Given the description of an element on the screen output the (x, y) to click on. 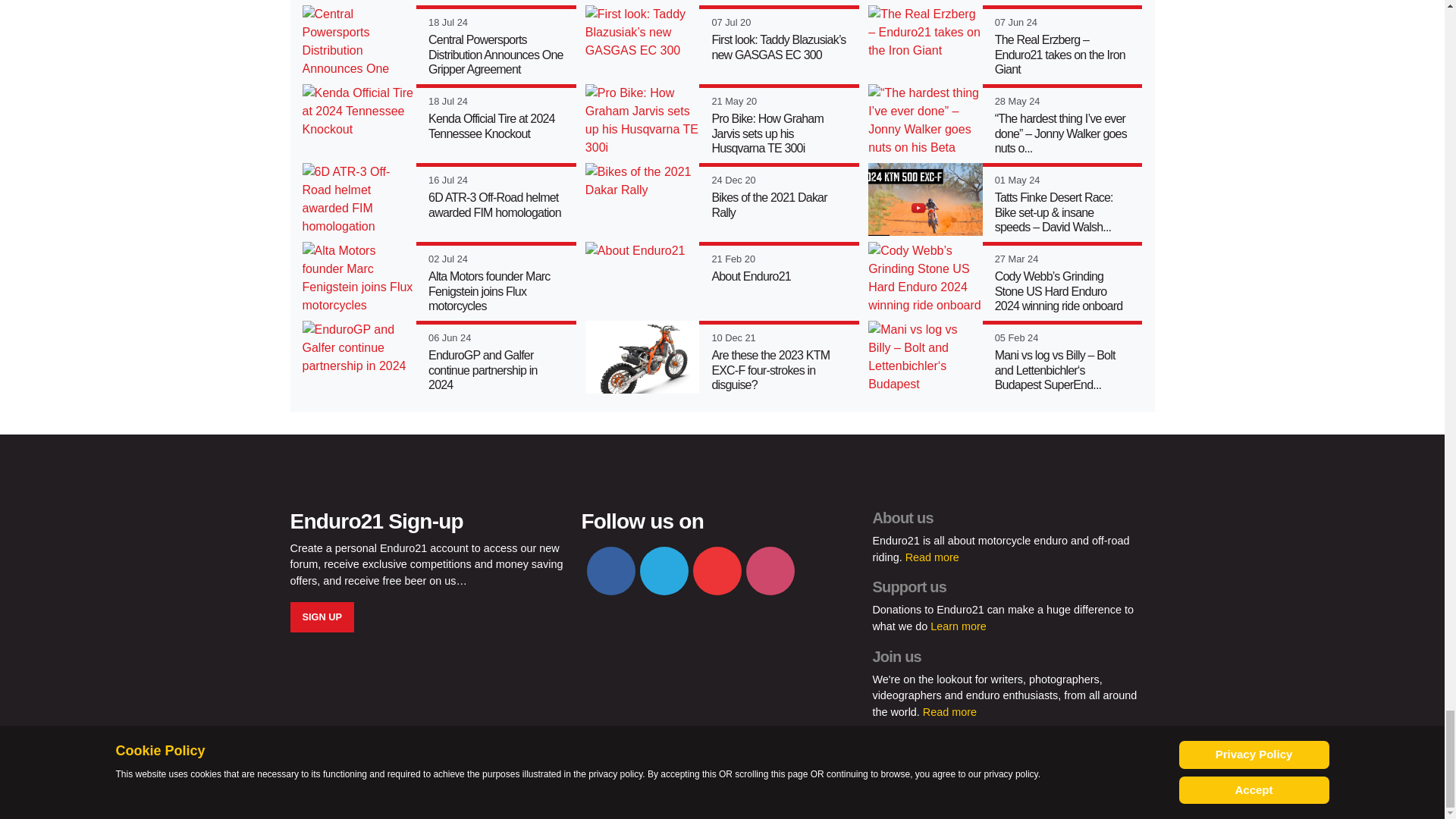
Follow us on Facebook (610, 571)
Follow us on Twitter (664, 571)
Follow us on Instagram (769, 571)
Follow us on Youtube (717, 571)
